Given the description of an element on the screen output the (x, y) to click on. 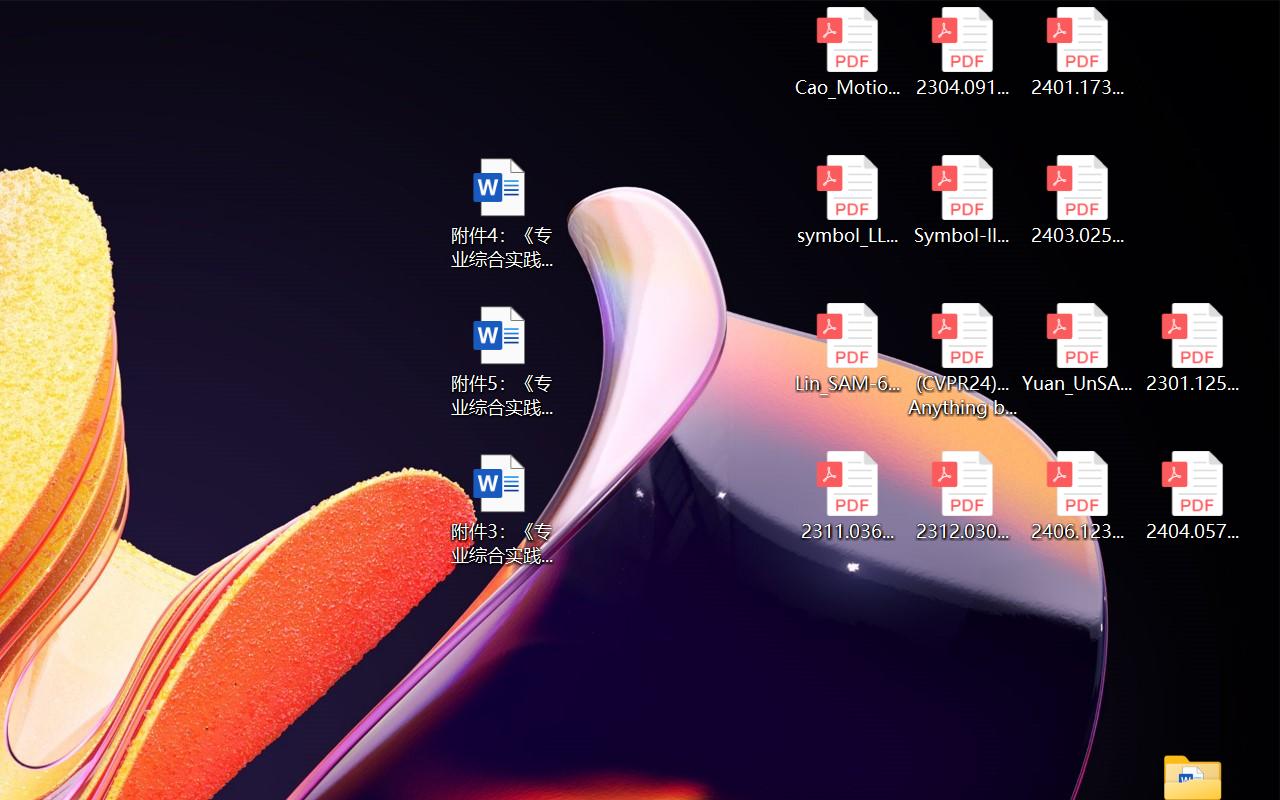
Run Code (Ctrl+Alt+N) (896, 105)
